Given the description of an element on the screen output the (x, y) to click on. 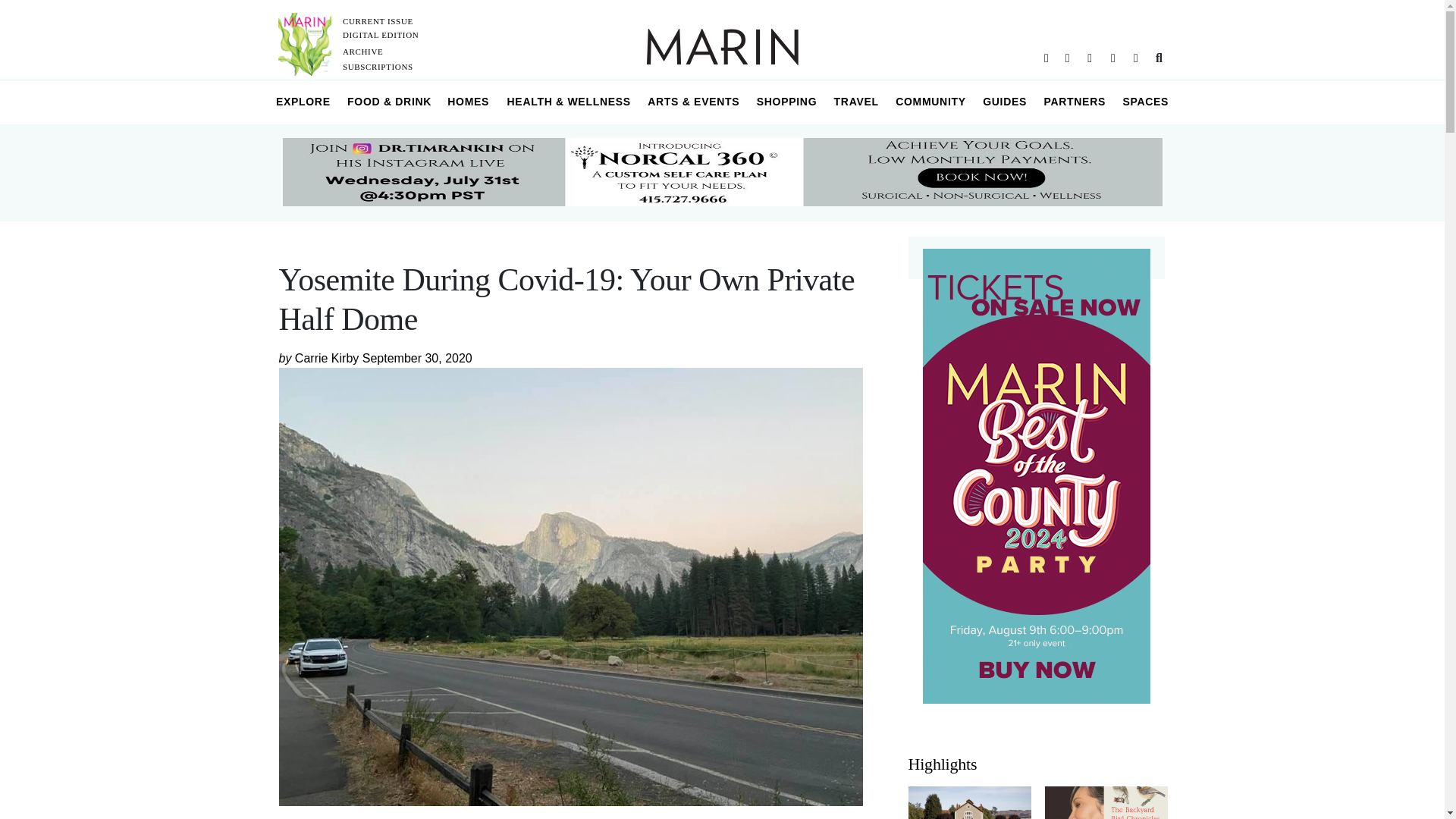
CURRENT ISSUE (377, 20)
DIGITAL EDITION (380, 34)
SUBSCRIPTIONS (377, 66)
HOMES (468, 102)
EXPLORE (303, 102)
ARCHIVE (362, 51)
